Given the description of an element on the screen output the (x, y) to click on. 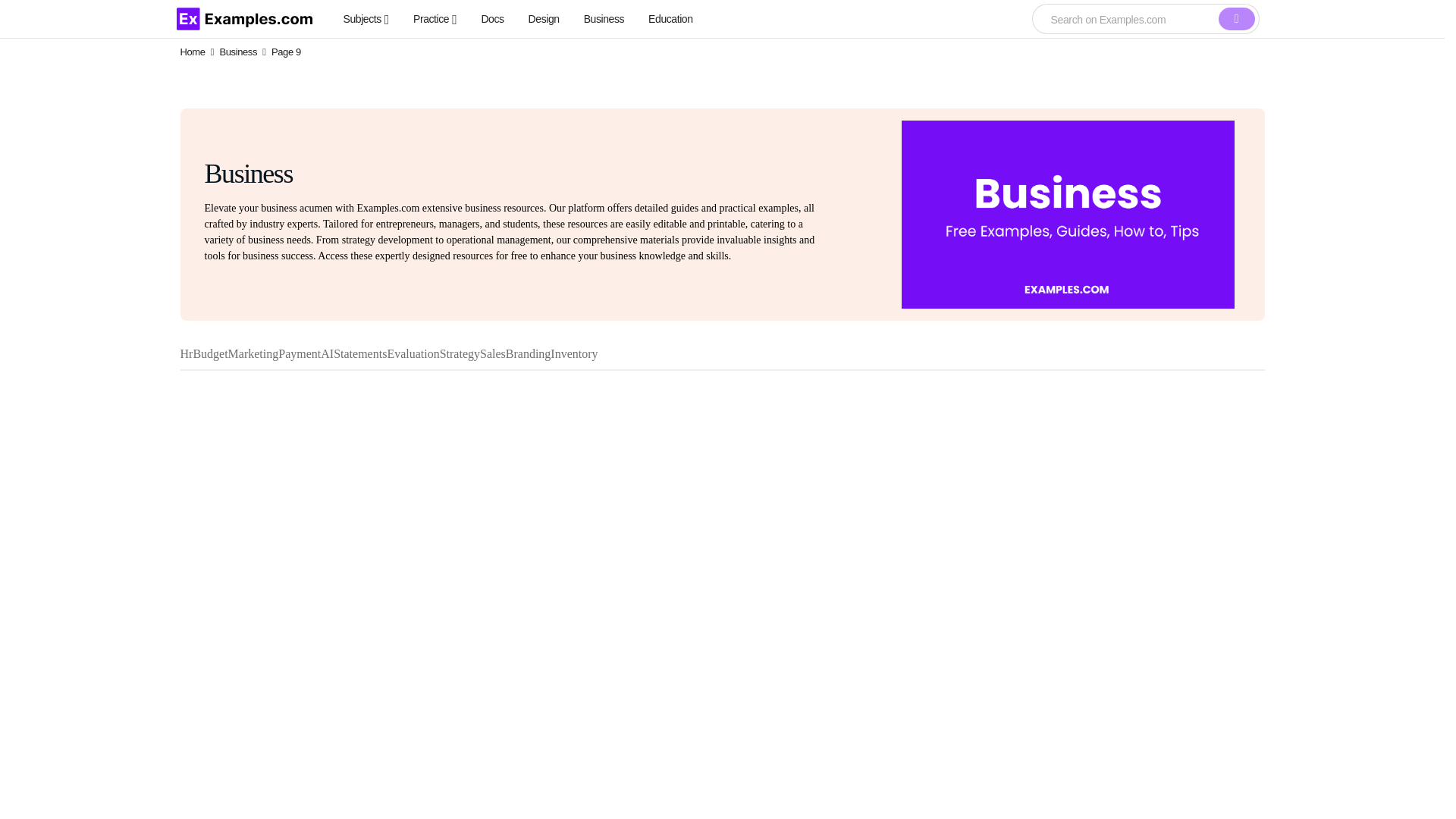
Business (238, 51)
Payment (299, 353)
Practice (435, 18)
Home (192, 51)
Business (603, 18)
Statements (360, 353)
Design (543, 18)
AI (326, 353)
Subjects (365, 18)
Education (670, 18)
Hr (186, 353)
Budget (209, 353)
Marketing (253, 353)
Docs (491, 18)
